Given the description of an element on the screen output the (x, y) to click on. 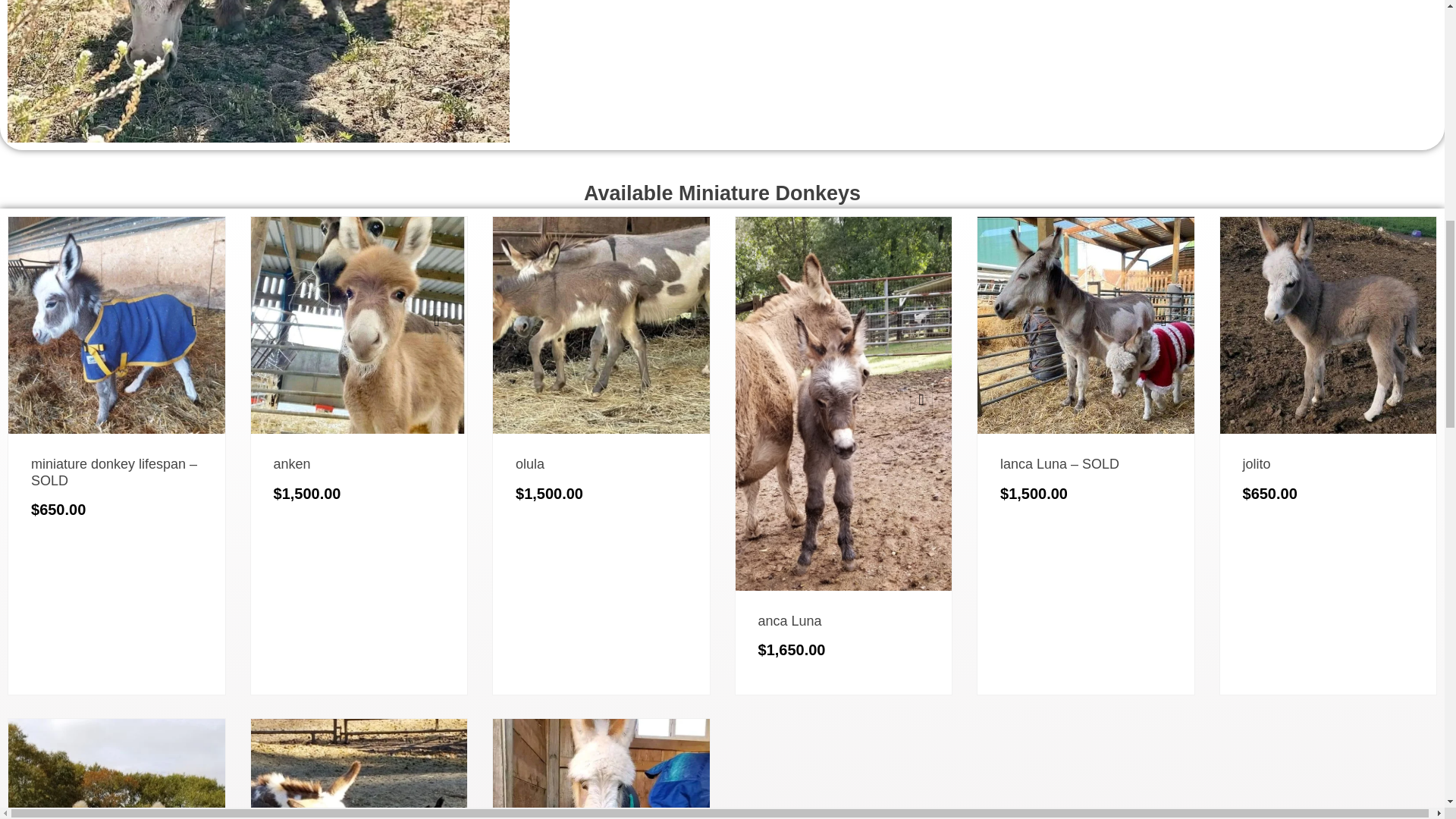
anken (291, 463)
olula (529, 463)
anca Luna (790, 620)
